Given the description of an element on the screen output the (x, y) to click on. 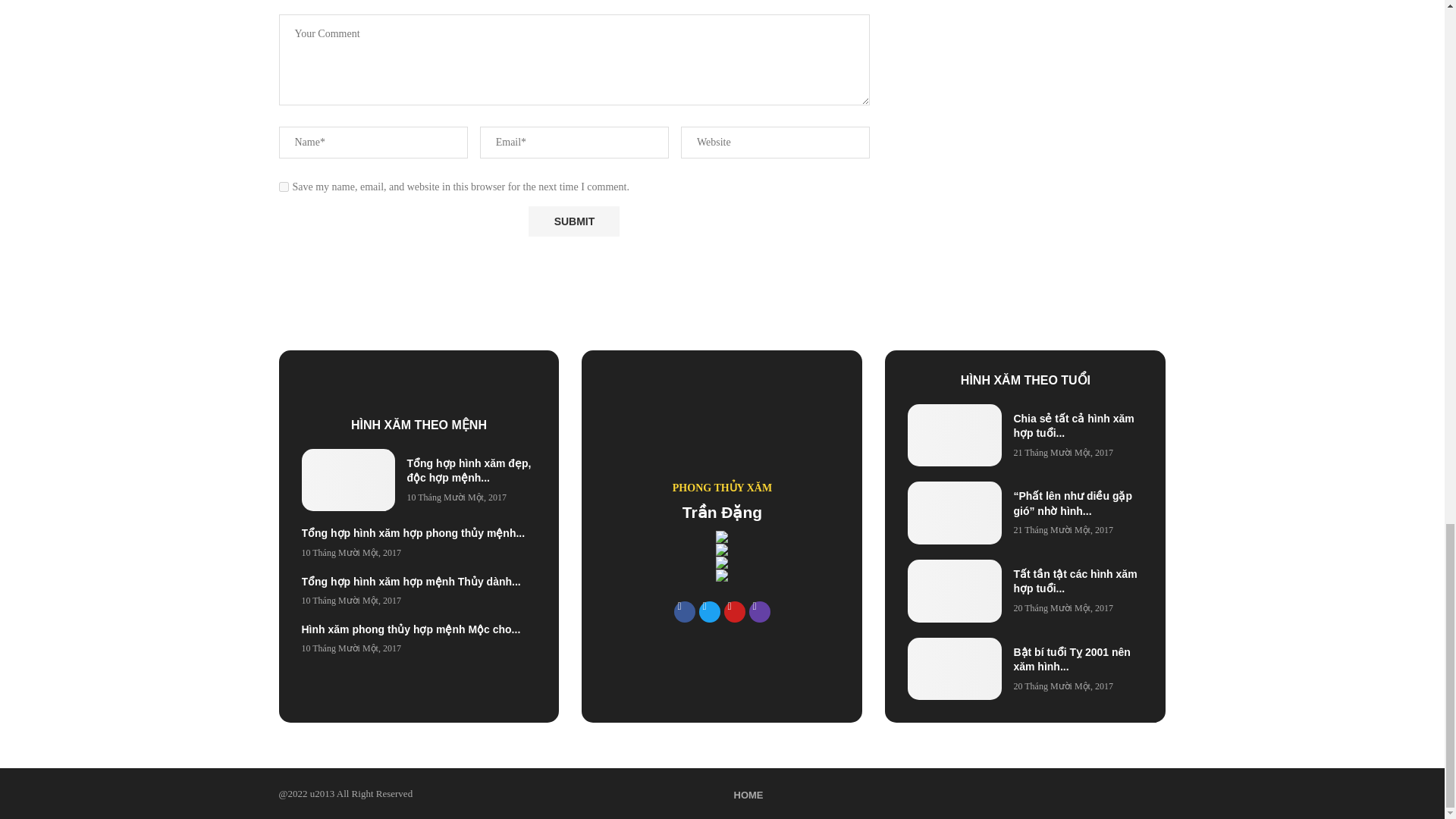
WSD4D (722, 562)
yes (283, 186)
Royalslot88 (722, 575)
Submit (574, 221)
Bandar55 (722, 536)
ShibaToto (722, 549)
